Given the description of an element on the screen output the (x, y) to click on. 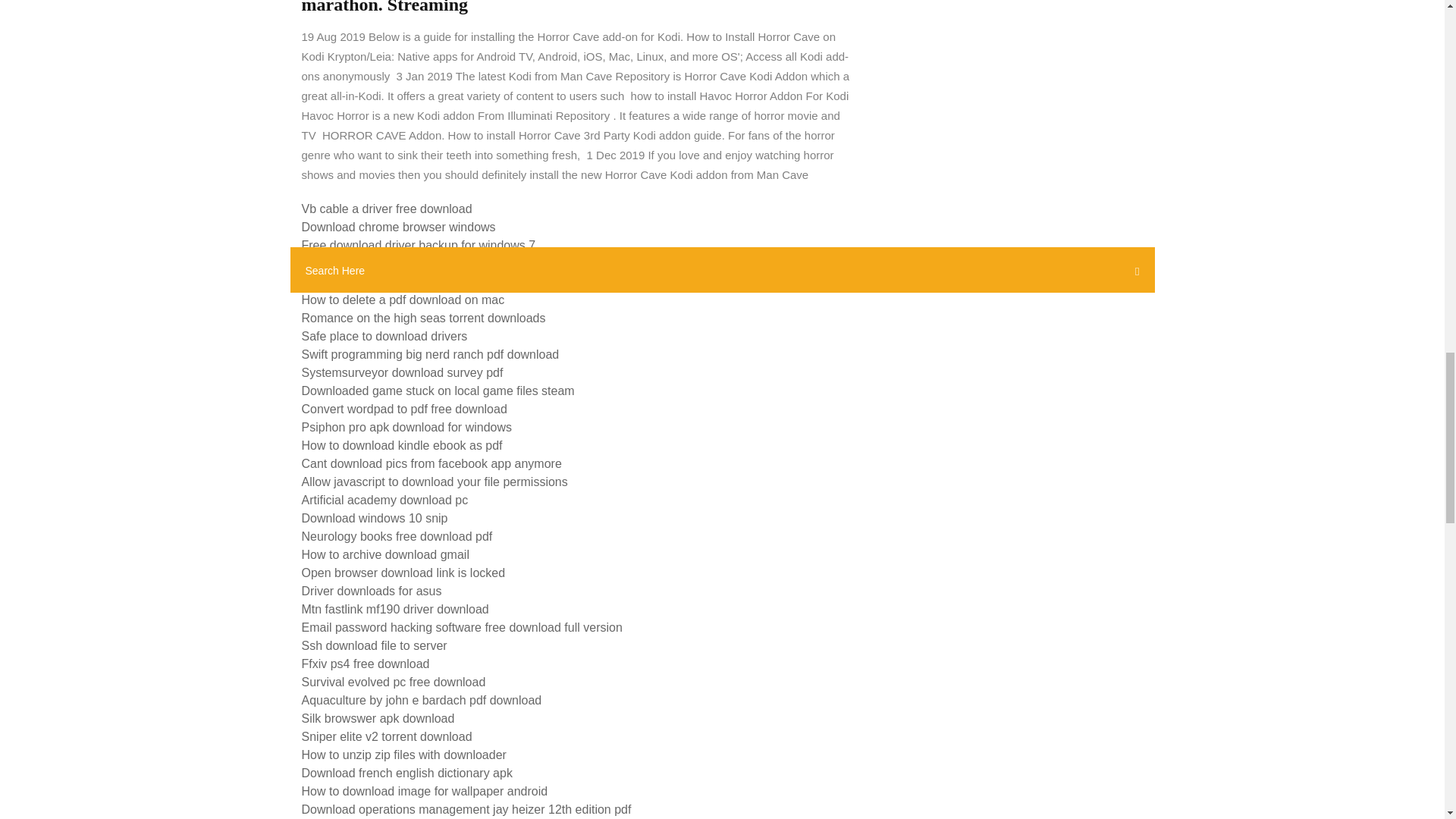
Convert wordpad to pdf free download (403, 408)
Change how chrome downloads file types (413, 263)
How to delete a pdf download on mac (403, 299)
How to download kindle ebook as pdf (401, 445)
Swift programming big nerd ranch pdf download (430, 354)
Vb cable a driver free download (386, 208)
Open browser download link is locked (403, 572)
Systemsurveyor download survey pdf (402, 372)
Psiphon pro apk download for windows (406, 427)
Safe place to download drivers (384, 336)
